Given the description of an element on the screen output the (x, y) to click on. 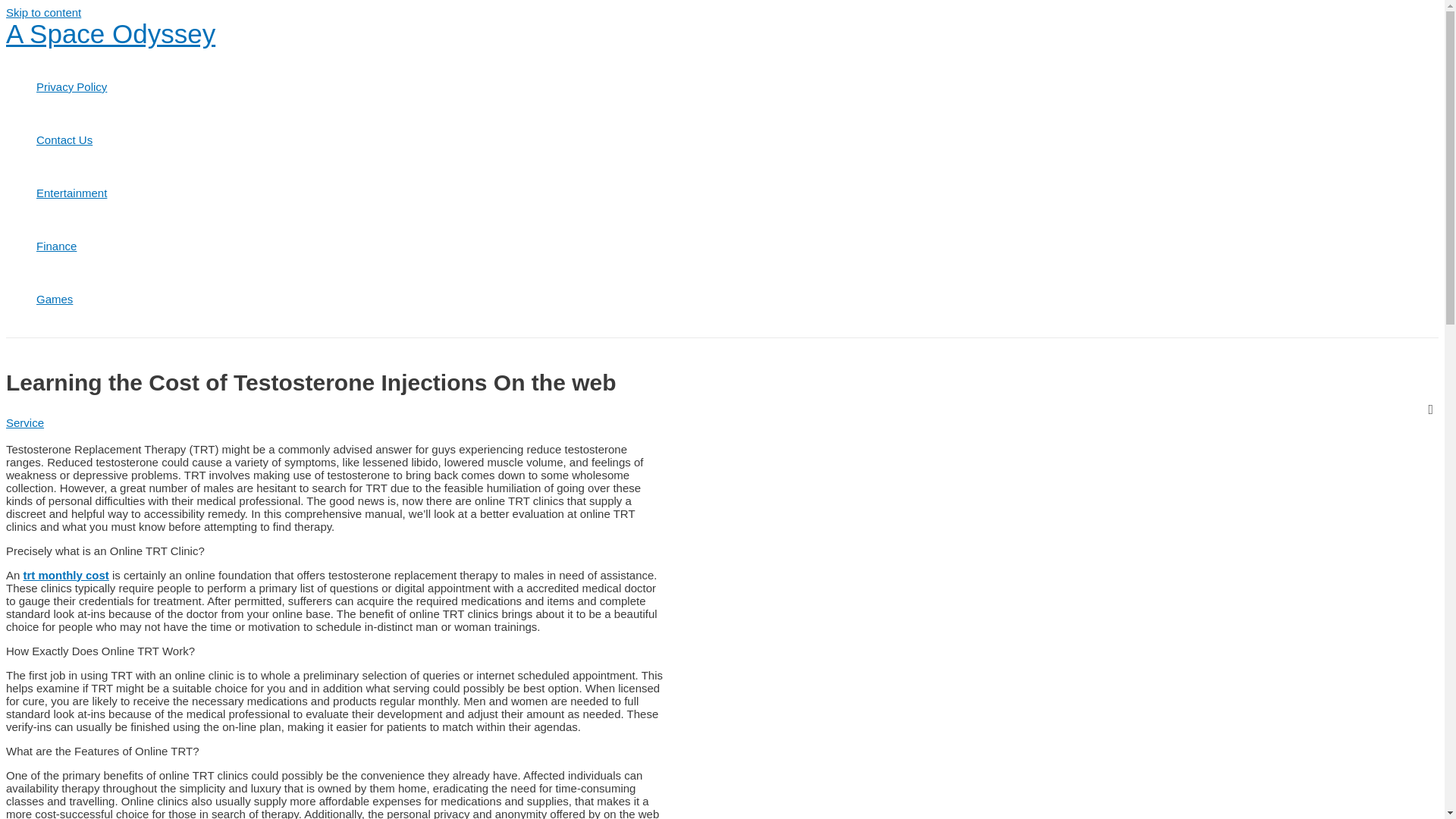
Service (24, 422)
Privacy Policy (71, 86)
Entertainment (71, 193)
Contact Us (71, 140)
Skip to content (43, 11)
trt monthly cost (66, 574)
A Space Odyssey (110, 33)
Finance (71, 246)
Games (71, 298)
